Given the description of an element on the screen output the (x, y) to click on. 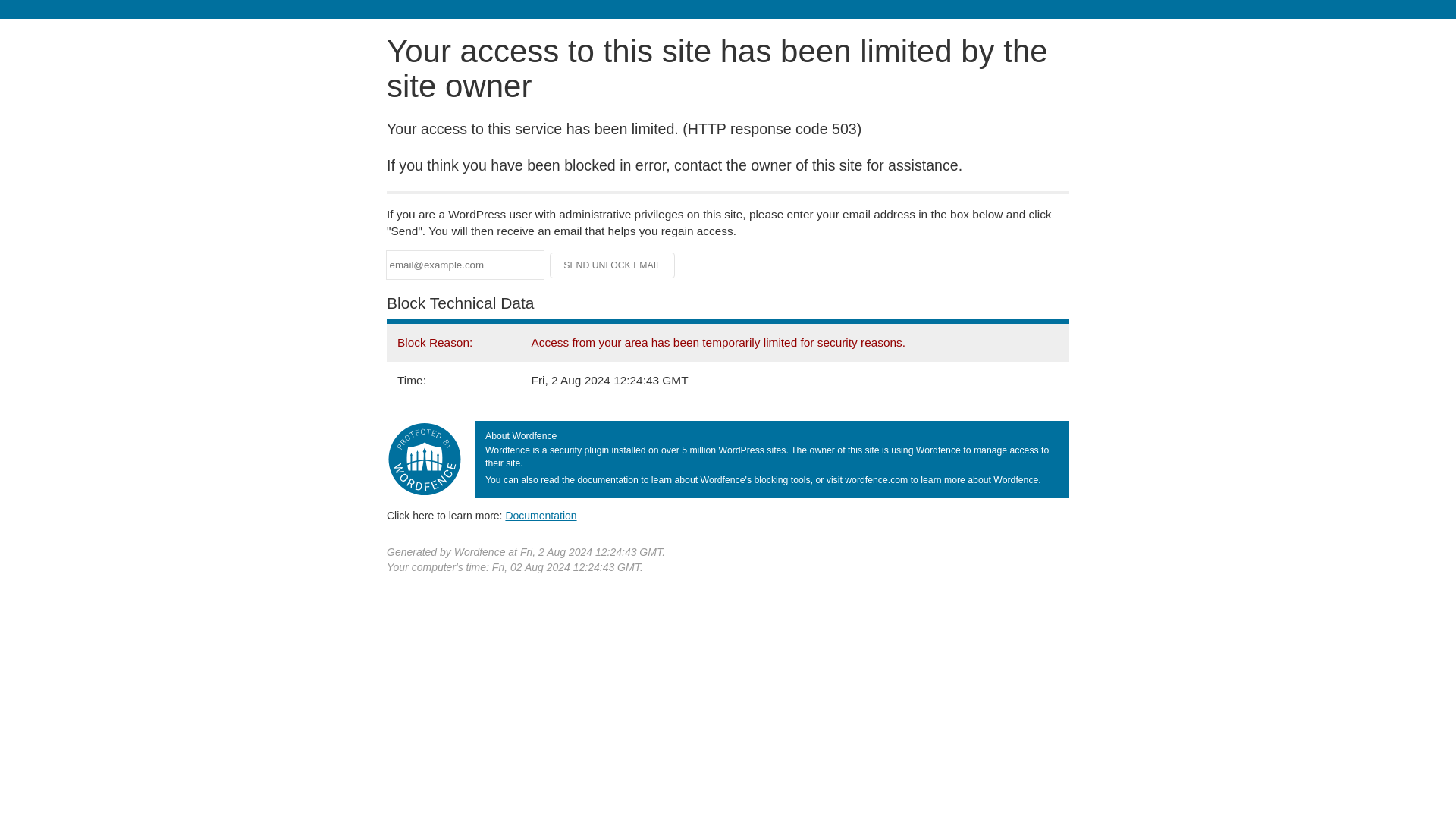
Send Unlock Email (612, 265)
Documentation (540, 515)
Send Unlock Email (612, 265)
